Given the description of an element on the screen output the (x, y) to click on. 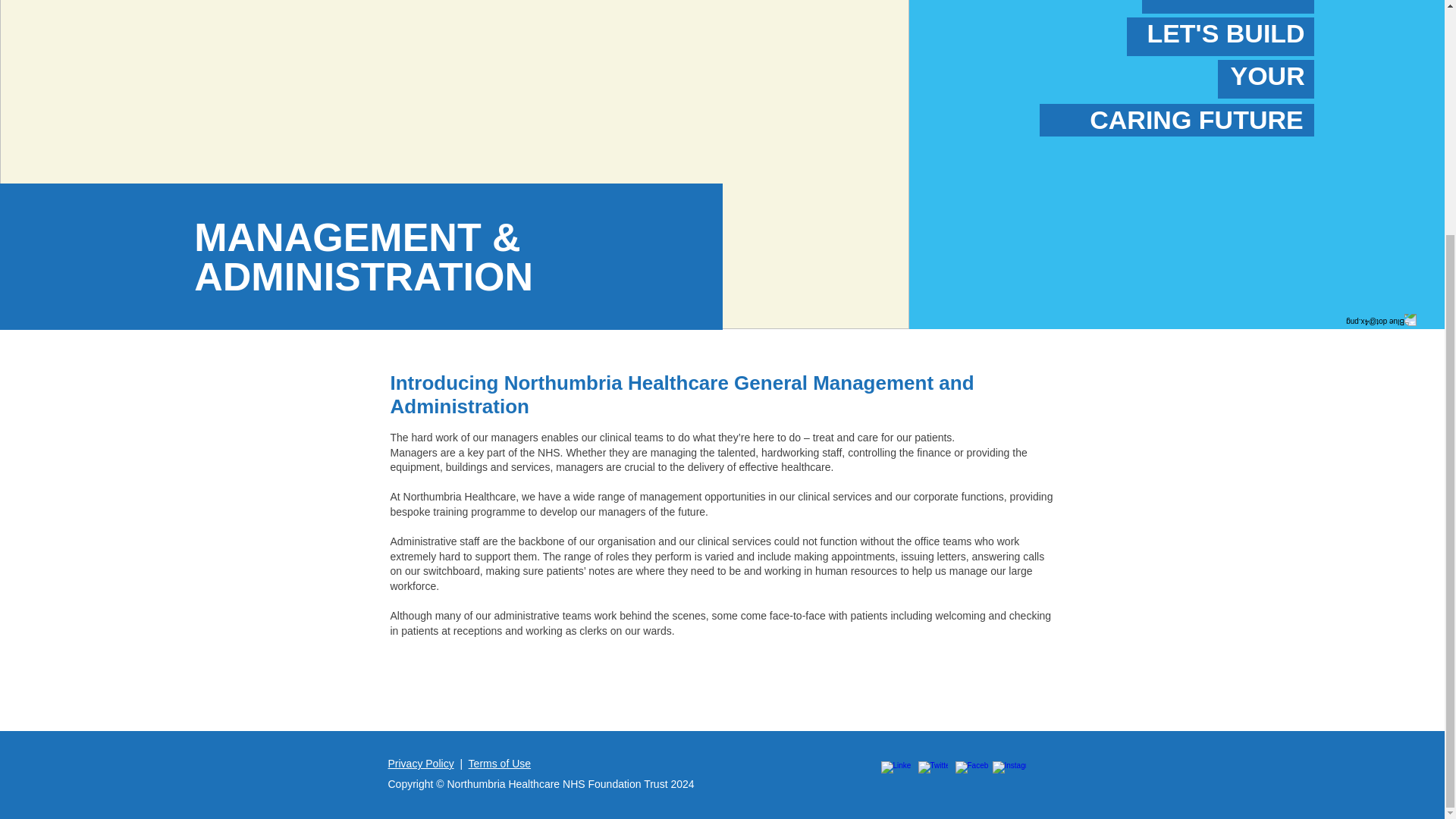
Terms of Use (499, 763)
Privacy Policy (421, 763)
